Given the description of an element on the screen output the (x, y) to click on. 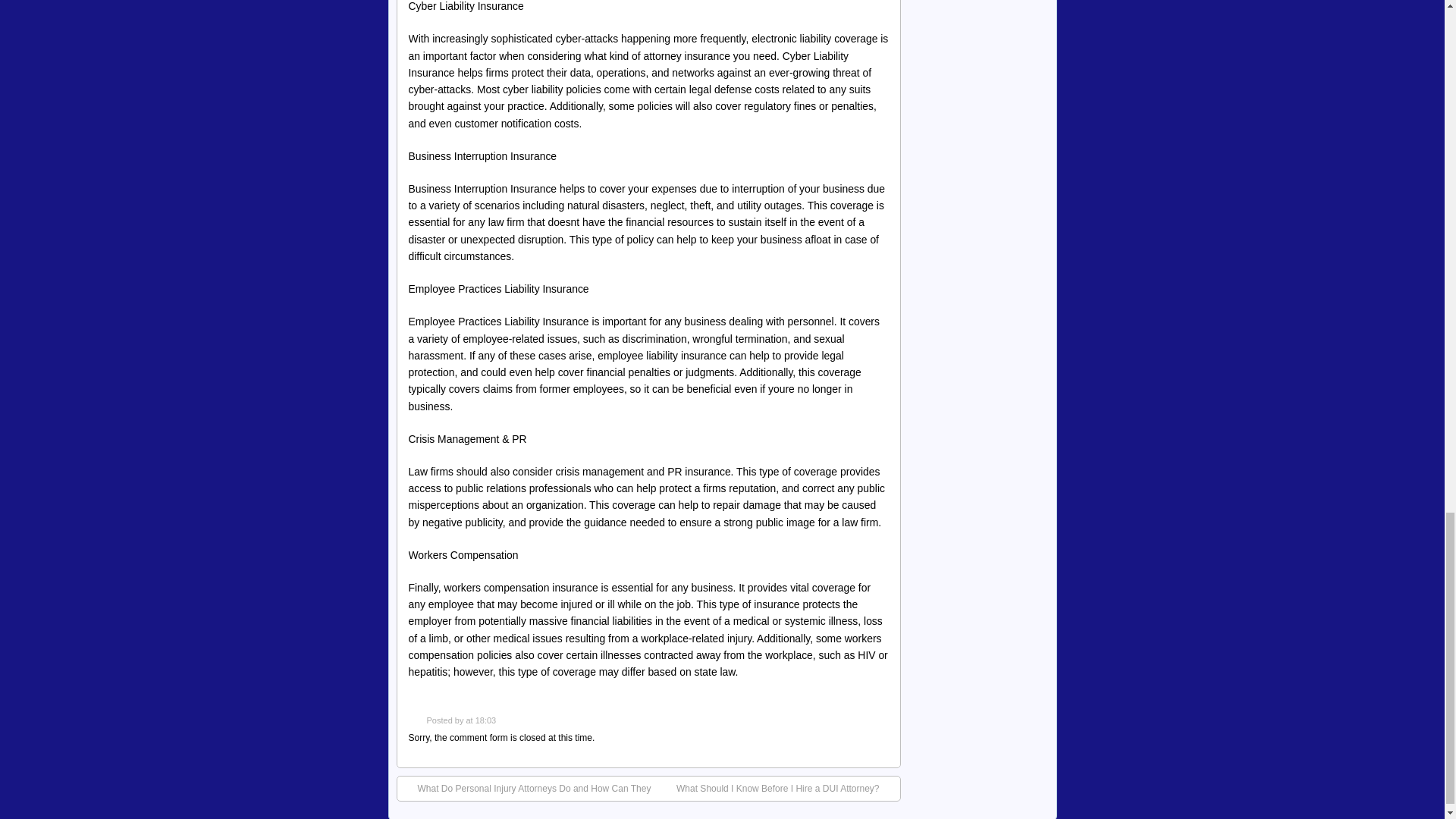
  What Do Personal Injury Attorneys Do and How Can They (525, 788)
  What Should I Know Before I Hire a DUI Attorney? (785, 788)
